Given the description of an element on the screen output the (x, y) to click on. 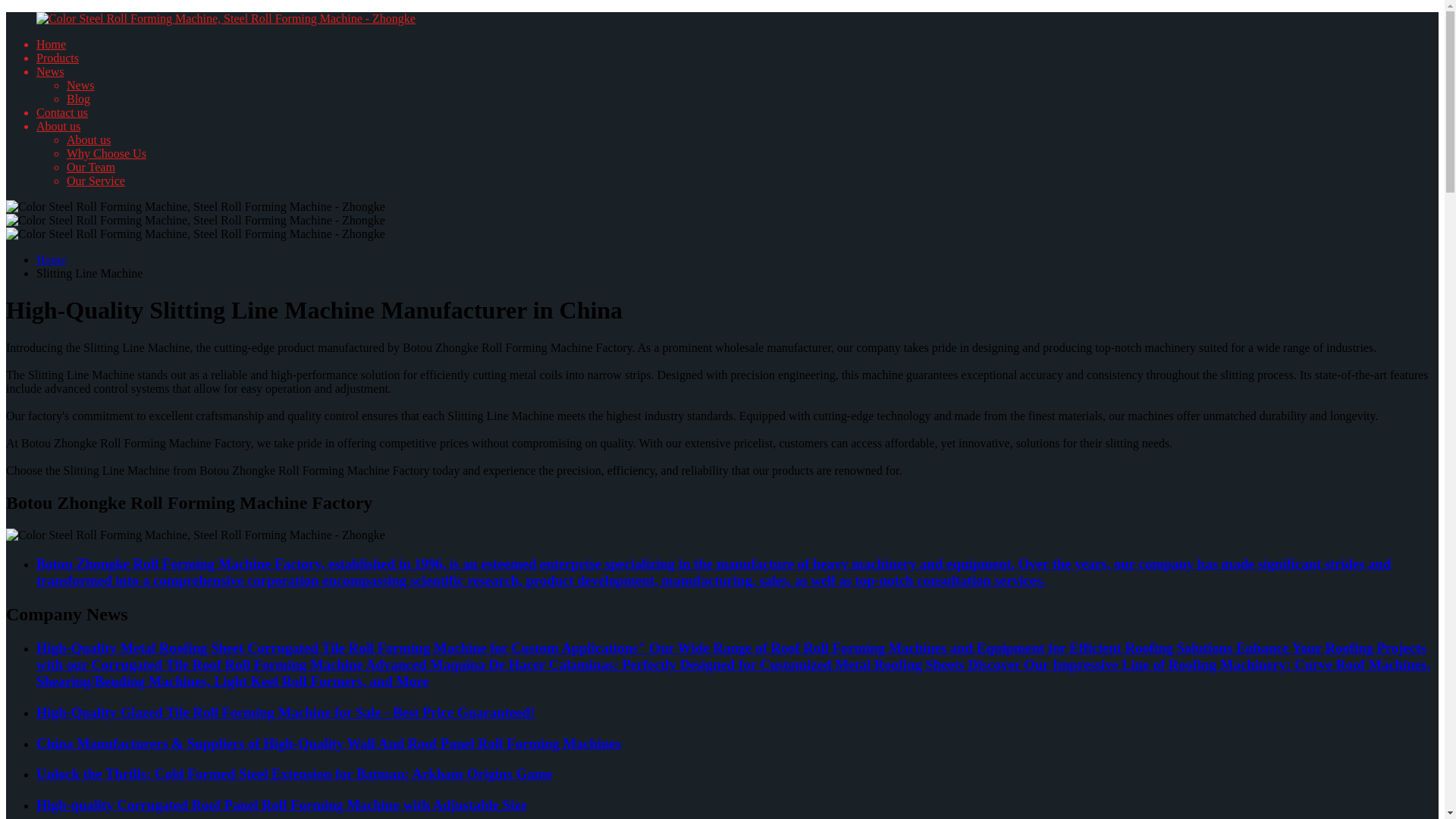
News (80, 84)
Our Service (95, 180)
Home (50, 259)
Contact us (61, 112)
Home (50, 43)
Products (57, 57)
Why Choose Us (106, 153)
About us (88, 139)
About us (58, 125)
Blog (78, 98)
News (50, 71)
Our Team (90, 166)
